Given the description of an element on the screen output the (x, y) to click on. 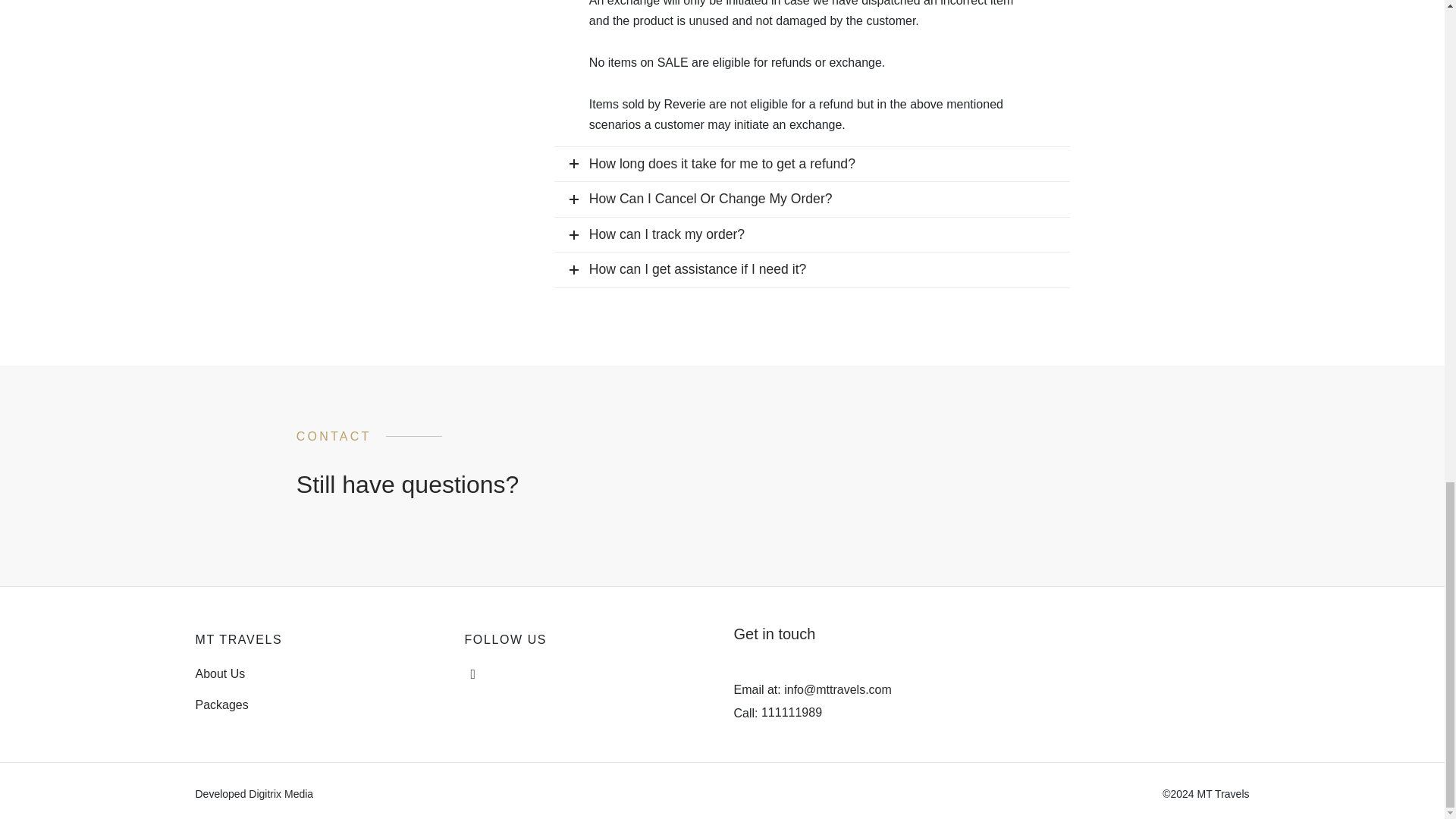
Packages (221, 703)
111111989 (791, 712)
How Can I Cancel Or Change My Order? (812, 199)
How long does it take for me to get a refund? (812, 164)
Digitrix Media (280, 793)
About Us (220, 673)
How can I get assistance if I need it? (812, 269)
How can I track my order? (812, 234)
